Given the description of an element on the screen output the (x, y) to click on. 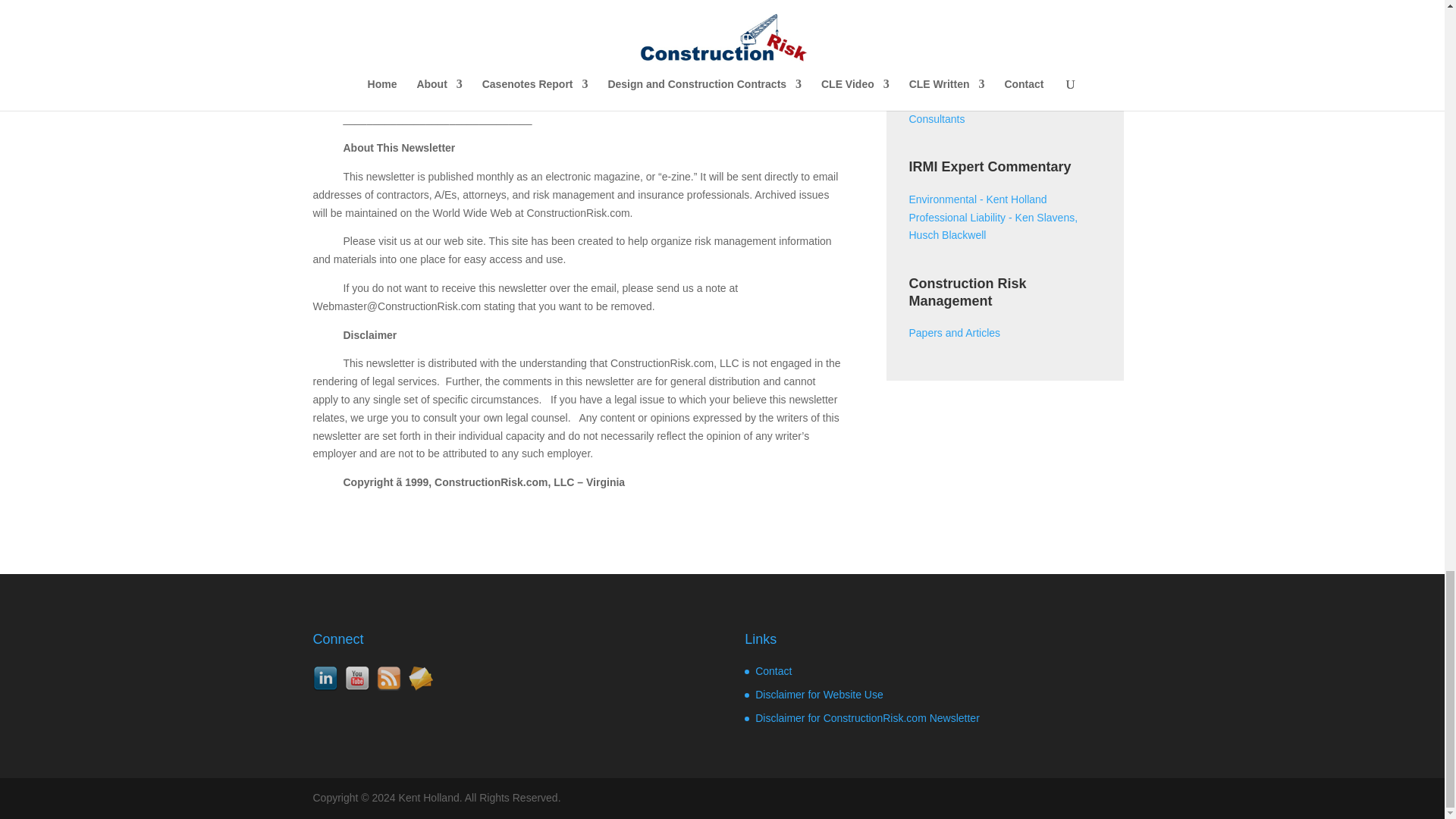
 RSS (387, 678)
 E-mail (419, 678)
 LinkedIn (324, 678)
 YouTube (355, 678)
